Given the description of an element on the screen output the (x, y) to click on. 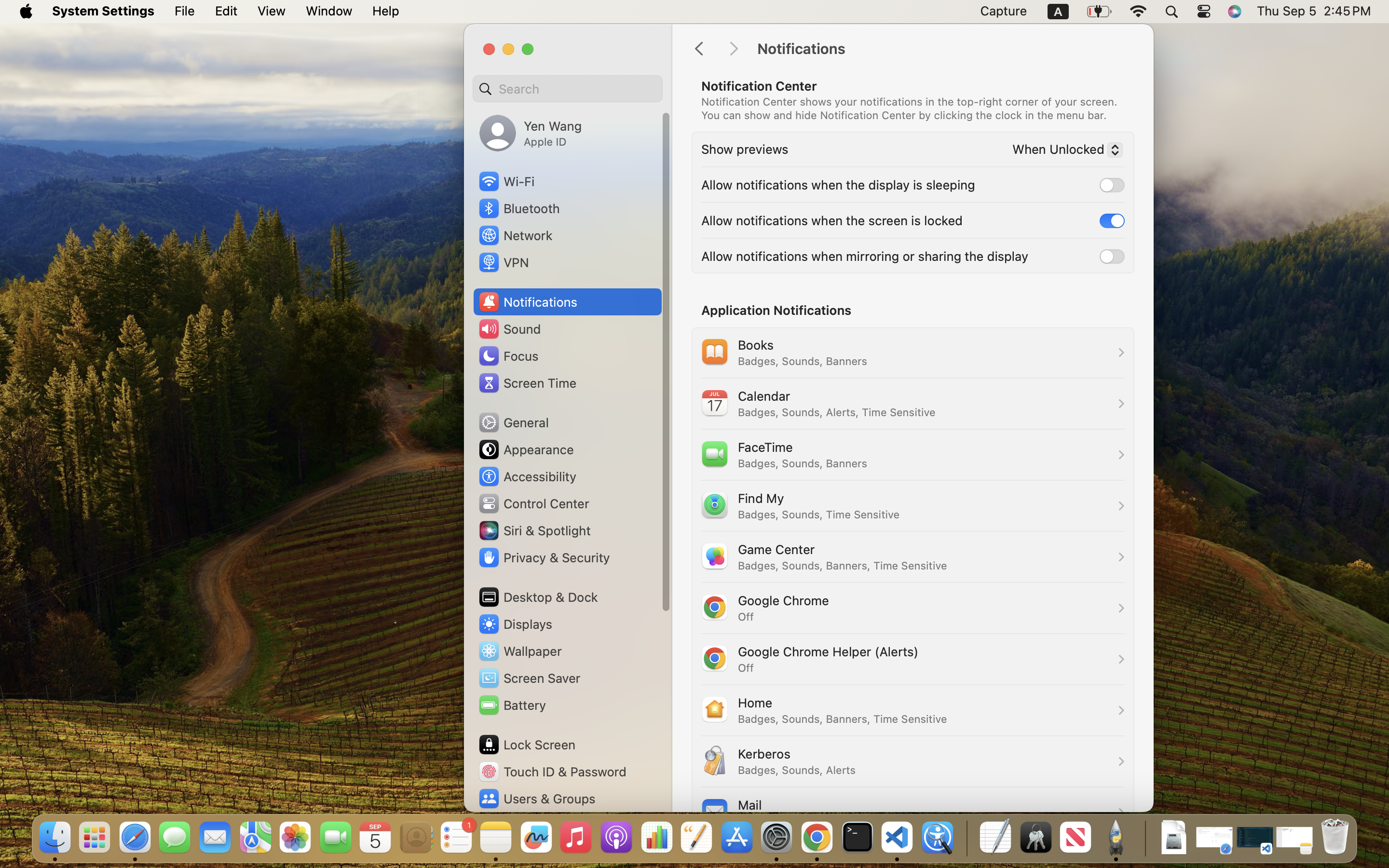
Wi‑Fi Element type: AXStaticText (505, 180)
Screen Saver Element type: AXStaticText (528, 677)
Focus Element type: AXStaticText (507, 355)
Battery Element type: AXStaticText (511, 704)
Siri & Spotlight Element type: AXStaticText (533, 530)
